Given the description of an element on the screen output the (x, y) to click on. 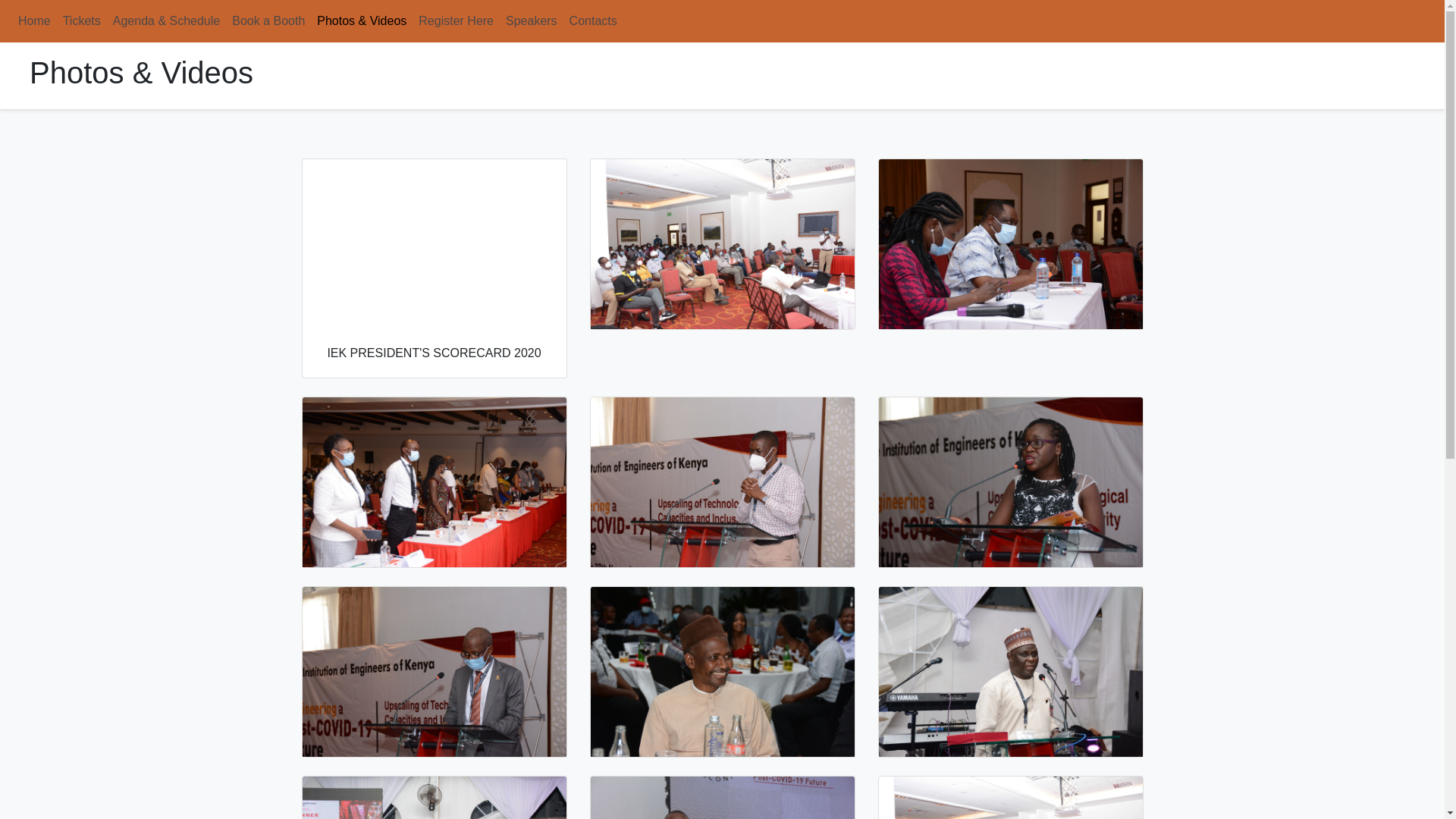
Home Element type: text (34, 21)
Speakers Element type: text (531, 21)
Book a Booth Element type: text (267, 21)
Register Here Element type: text (455, 21)
Tickets Element type: text (81, 21)
Photos & Videos Element type: text (361, 21)
Contacts Element type: text (593, 21)
Agenda & Schedule Element type: text (165, 21)
